Given the description of an element on the screen output the (x, y) to click on. 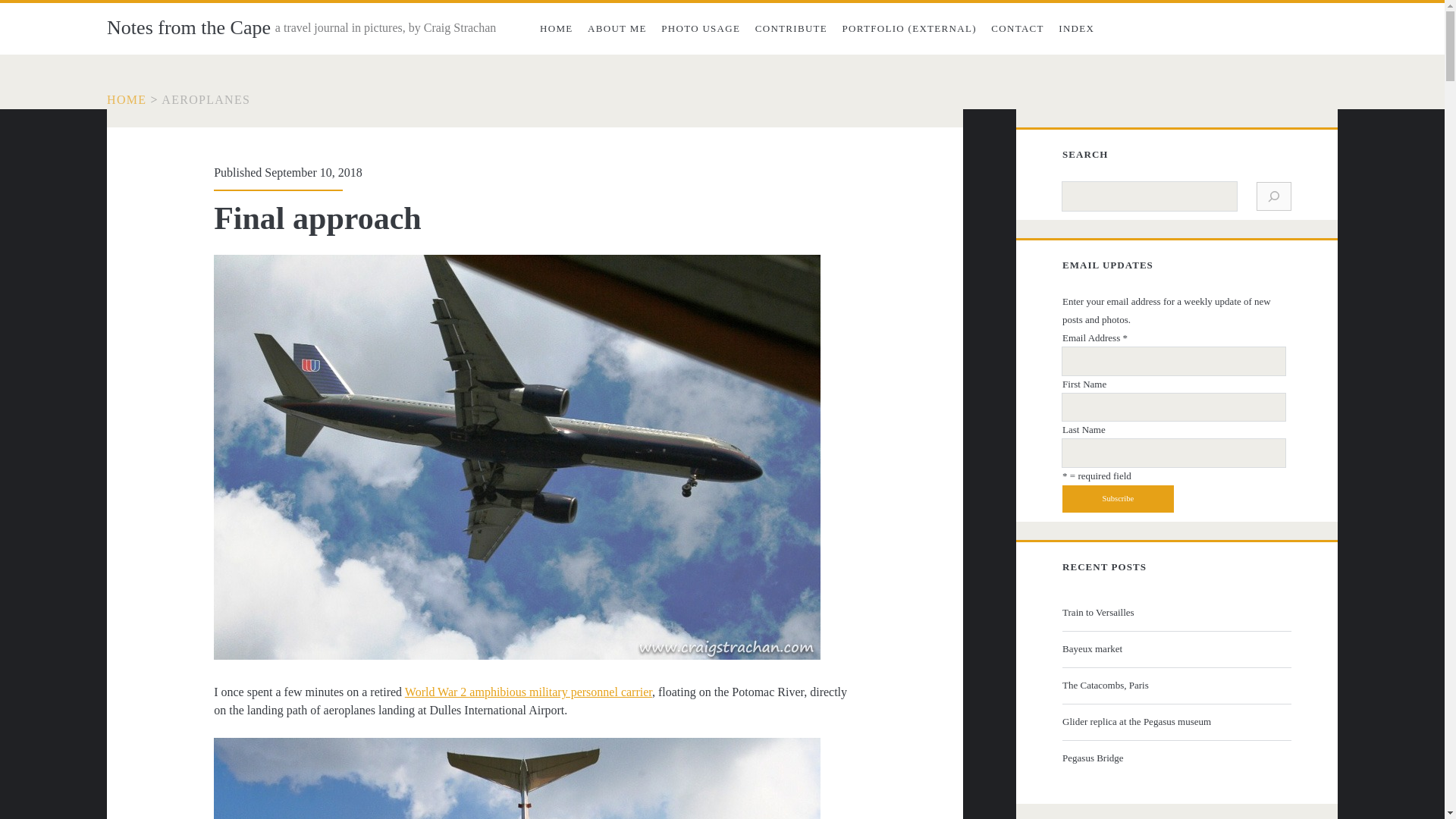
CONTACT (1017, 28)
Home (126, 99)
ABOUT ME (616, 28)
PHOTO USAGE (700, 28)
CONTRIBUTE (791, 28)
INDEX (1076, 28)
Notes from the Cape (188, 27)
HOME (126, 99)
World War 2 amphibious military personnel carrier (528, 691)
HOME (555, 28)
Final approach (317, 217)
Subscribe (1117, 498)
